Given the description of an element on the screen output the (x, y) to click on. 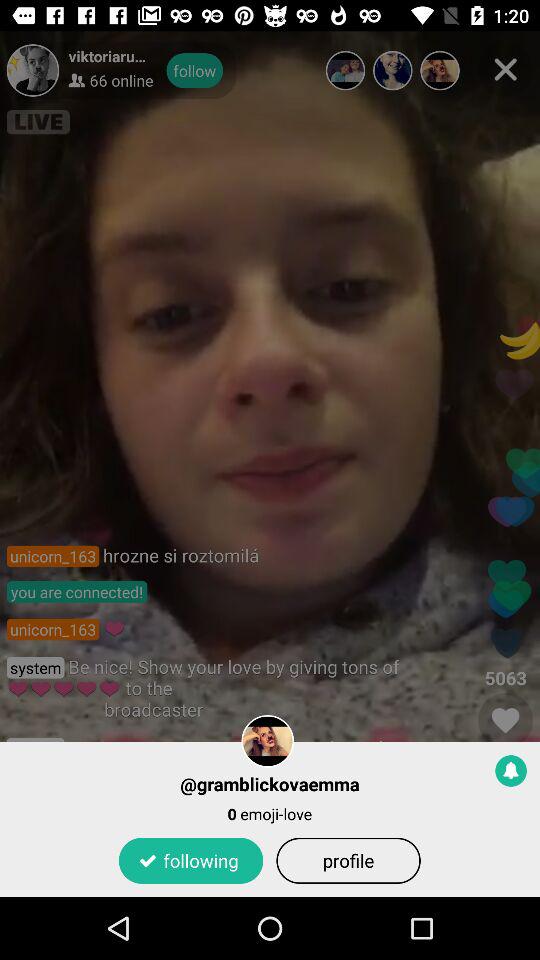
select icon at the center (270, 463)
